Given the description of an element on the screen output the (x, y) to click on. 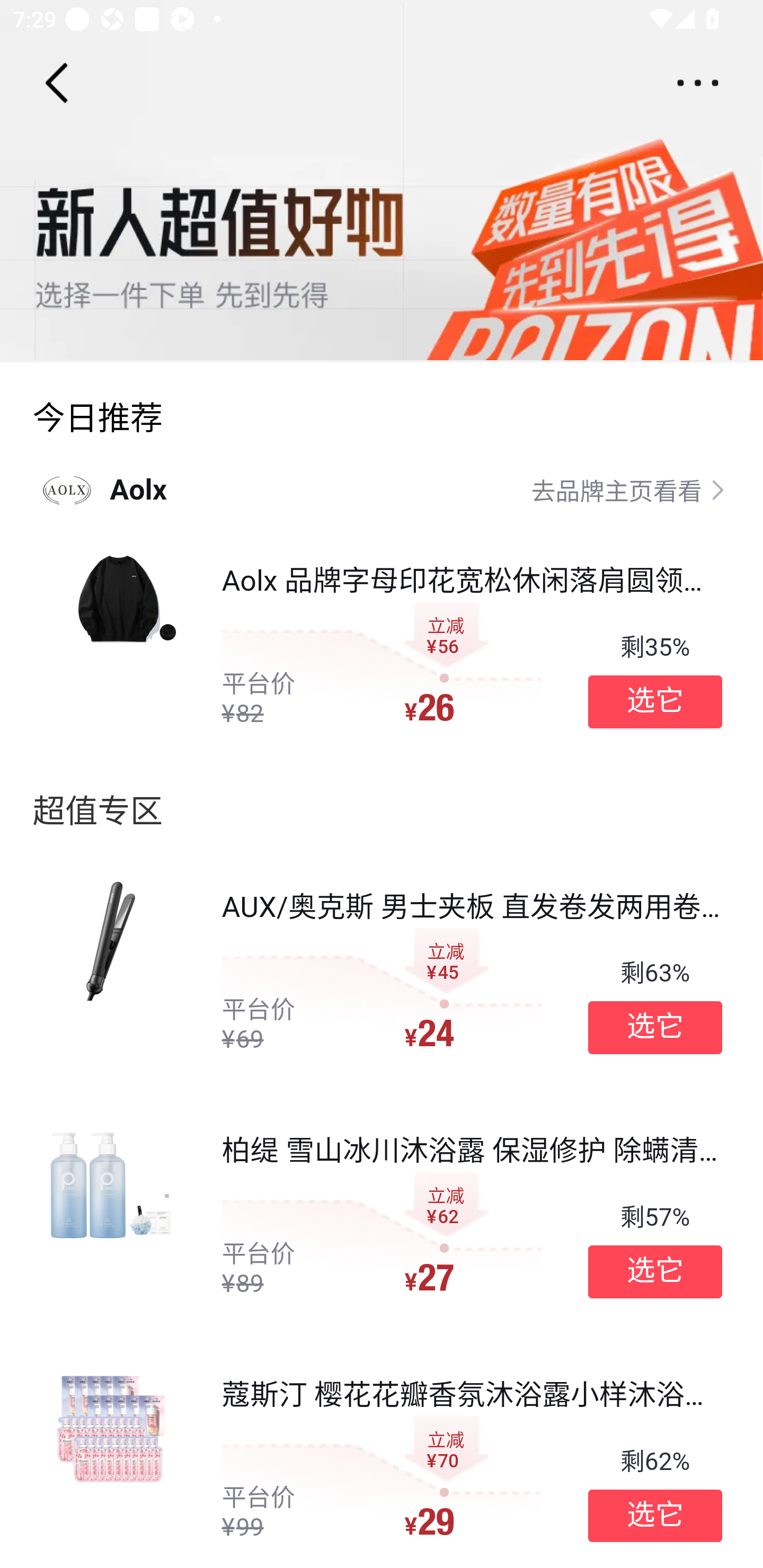
Aolx去品牌主页看看 (381, 489)
选它 (654, 701)
选它 (654, 1027)
选它 (654, 1271)
选它 (654, 1515)
